Given the description of an element on the screen output the (x, y) to click on. 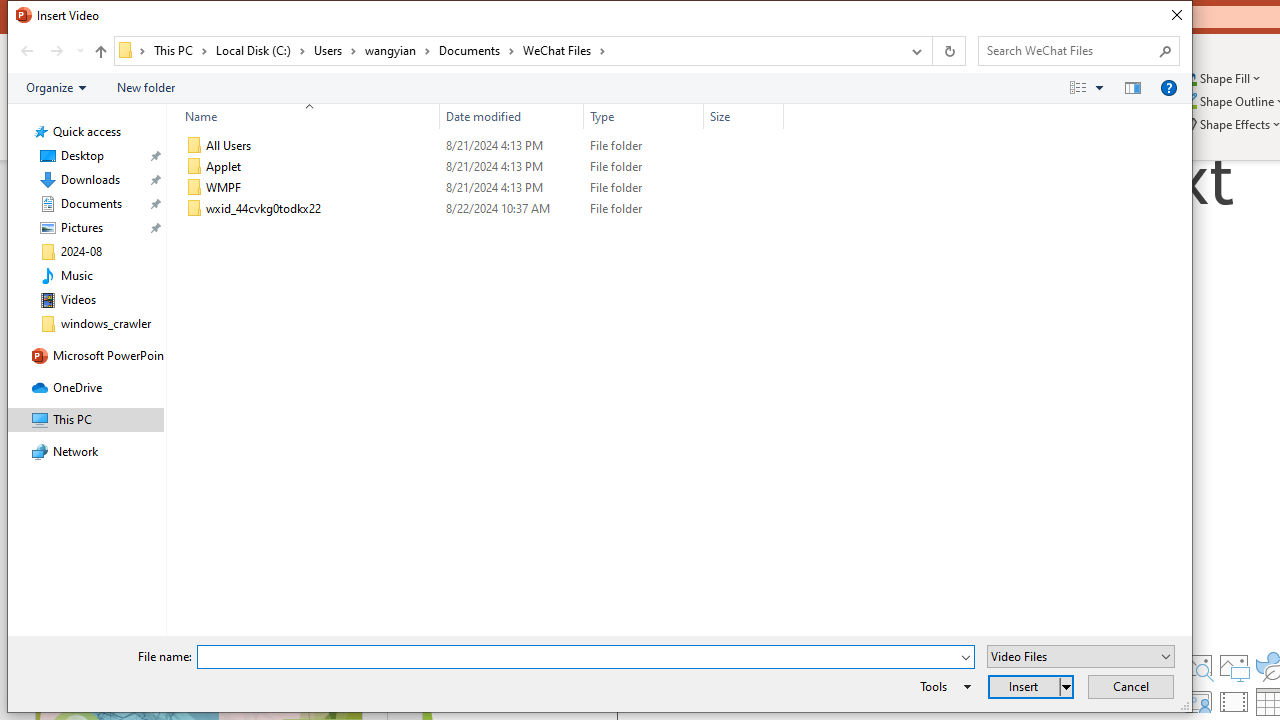
Preview pane (1132, 87)
New folder (145, 87)
Name (321, 209)
Up band toolbar (100, 54)
All Users (480, 145)
Address: C:\Users\wangyian\Documents\WeChat Files (506, 51)
Filter dropdown (775, 115)
Address band toolbar (931, 51)
